Given the description of an element on the screen output the (x, y) to click on. 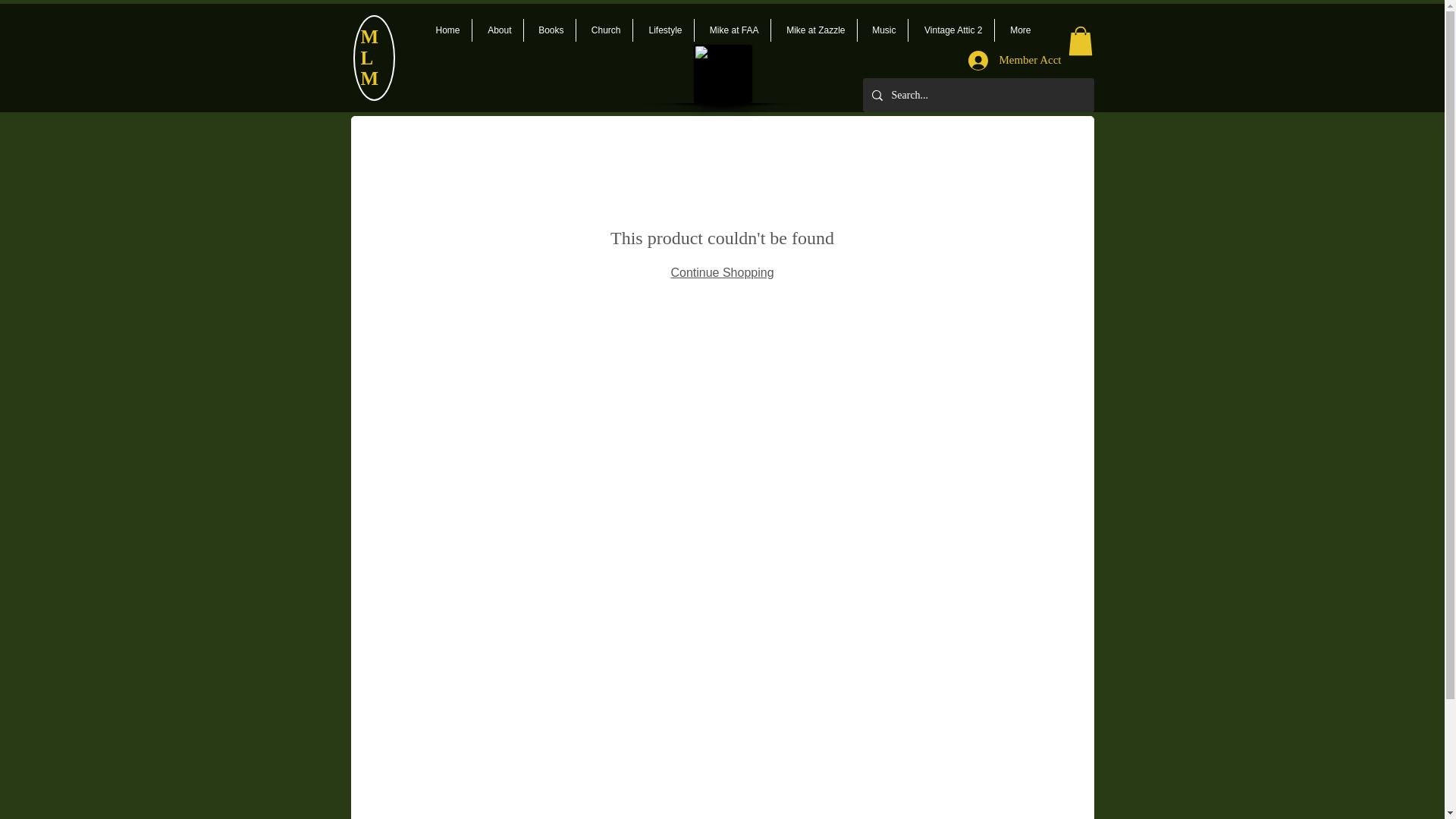
Lifestyle (662, 29)
Mike at Zazzle (813, 29)
Home (445, 29)
Corner Stone Logo 2 040317 1125x1125 png (722, 74)
Music (882, 29)
Church (603, 29)
Books (548, 29)
Member Acct (1014, 60)
About (496, 29)
Vintage Attic 2 (951, 29)
